Given the description of an element on the screen output the (x, y) to click on. 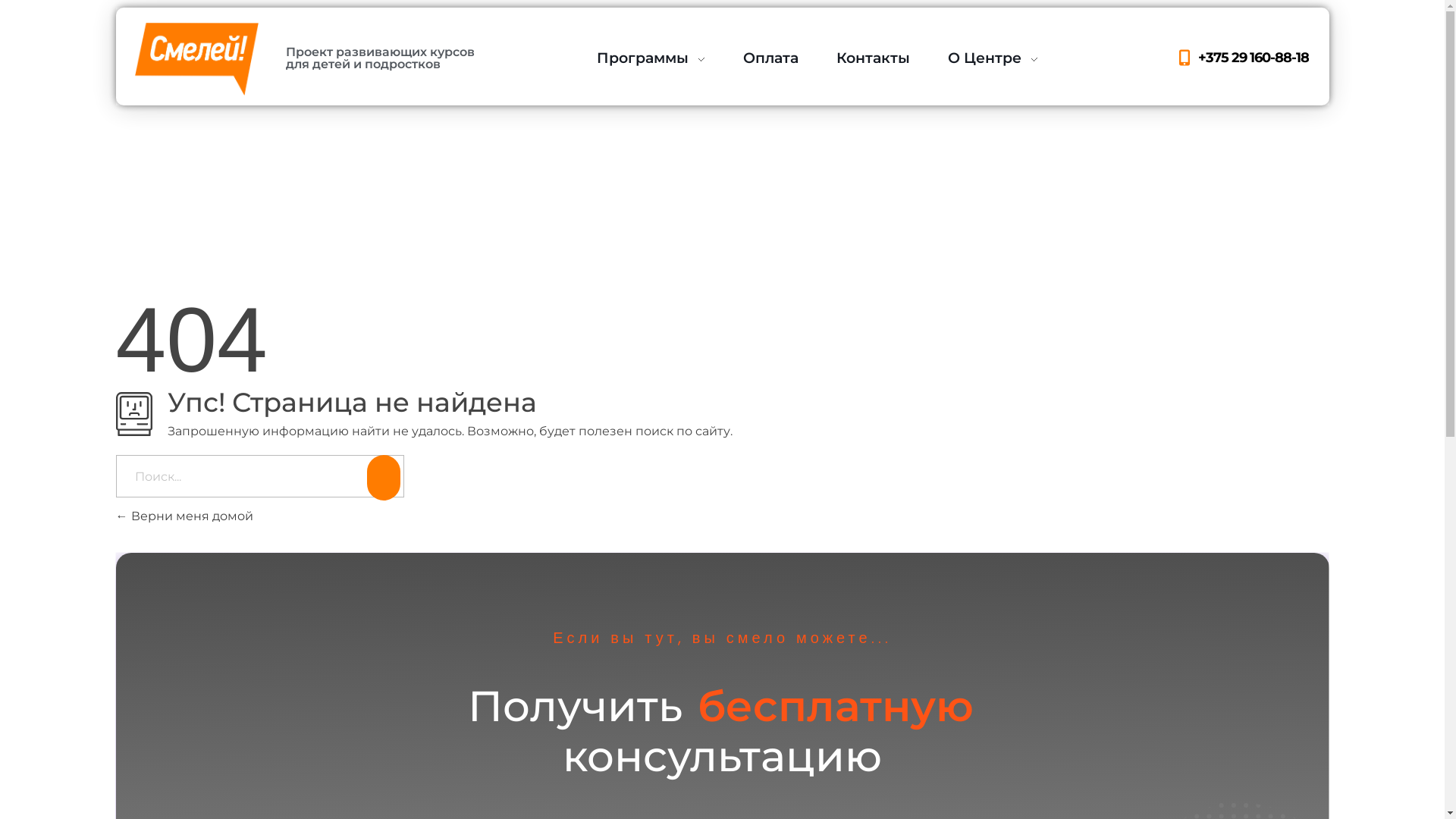
+375 29 160-88-18 Element type: text (1240, 58)
